Given the description of an element on the screen output the (x, y) to click on. 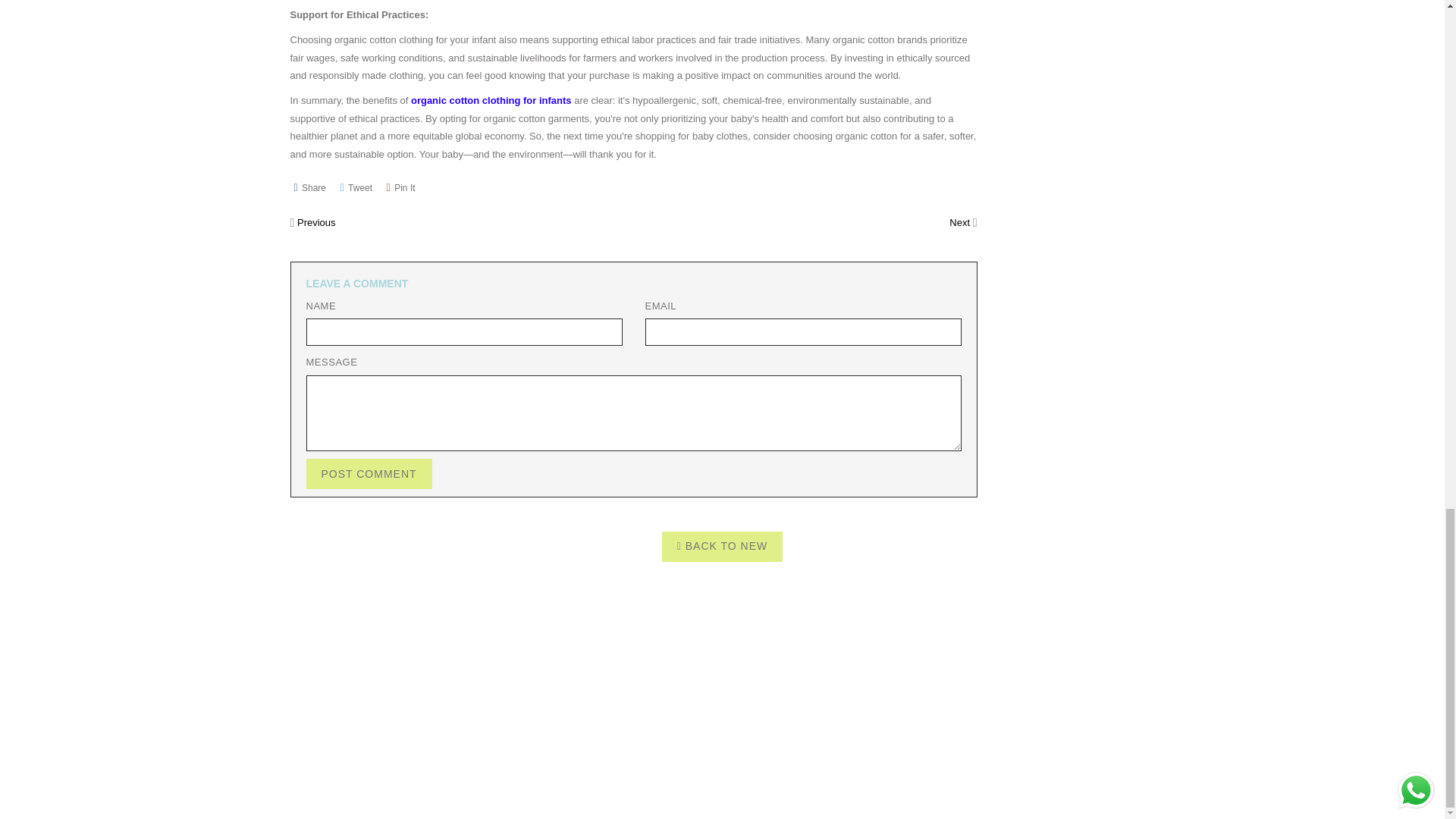
Pin on Pinterest (400, 187)
Tweet on Twitter (355, 187)
Post comment (368, 473)
Share on Facebook (309, 187)
